Given the description of an element on the screen output the (x, y) to click on. 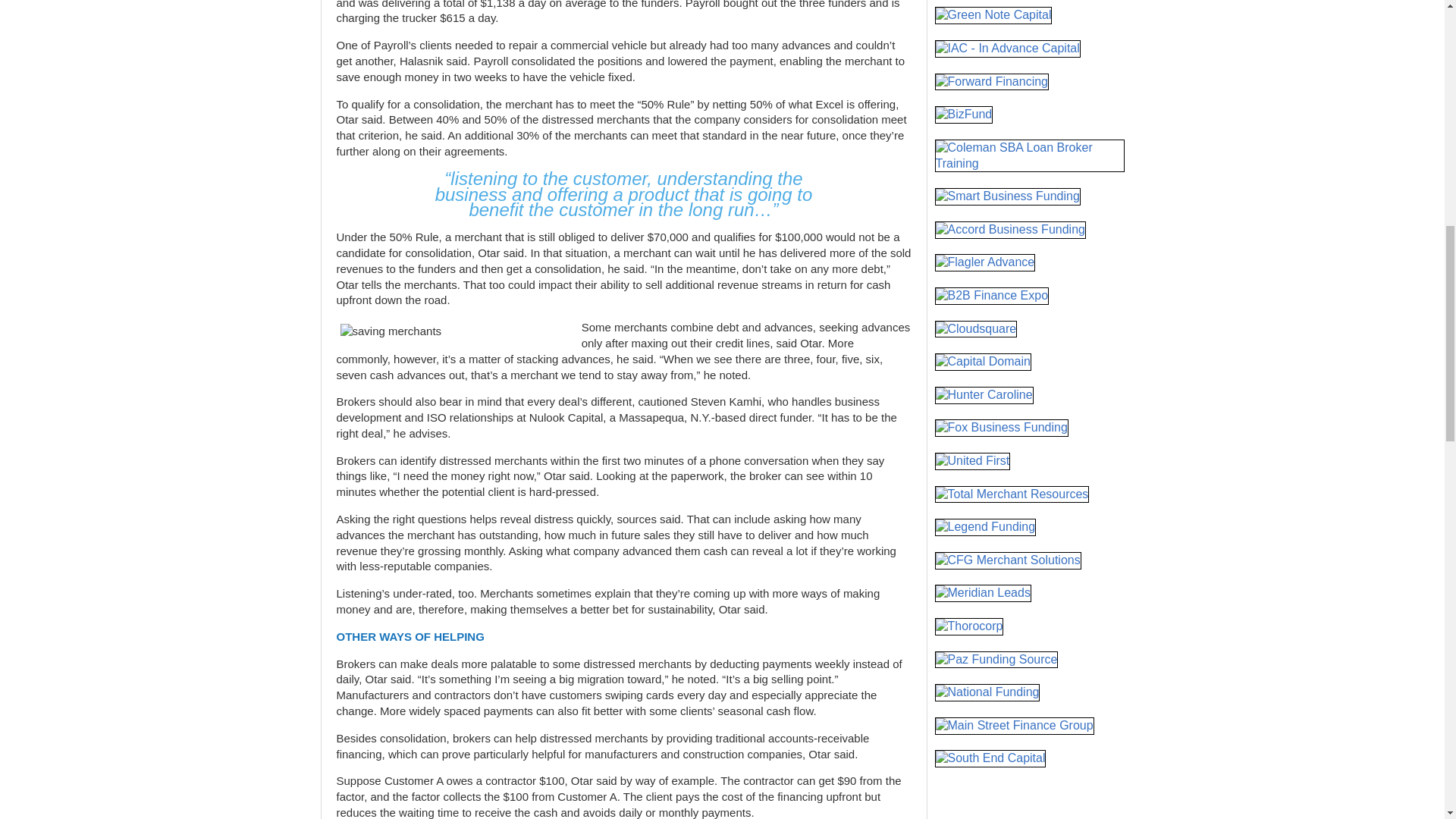
Accord Business Funding (1009, 230)
Green Note Capital (992, 15)
Cloudsquare (975, 329)
Coleman SBA Loan Broker Training (1029, 155)
Flagler Advance (984, 262)
Smart Business Funding (1007, 196)
BizFund (963, 114)
B2B Finance Expo (991, 295)
Forward Financing (991, 81)
IAC - In Advance Capital (1007, 48)
